Given the description of an element on the screen output the (x, y) to click on. 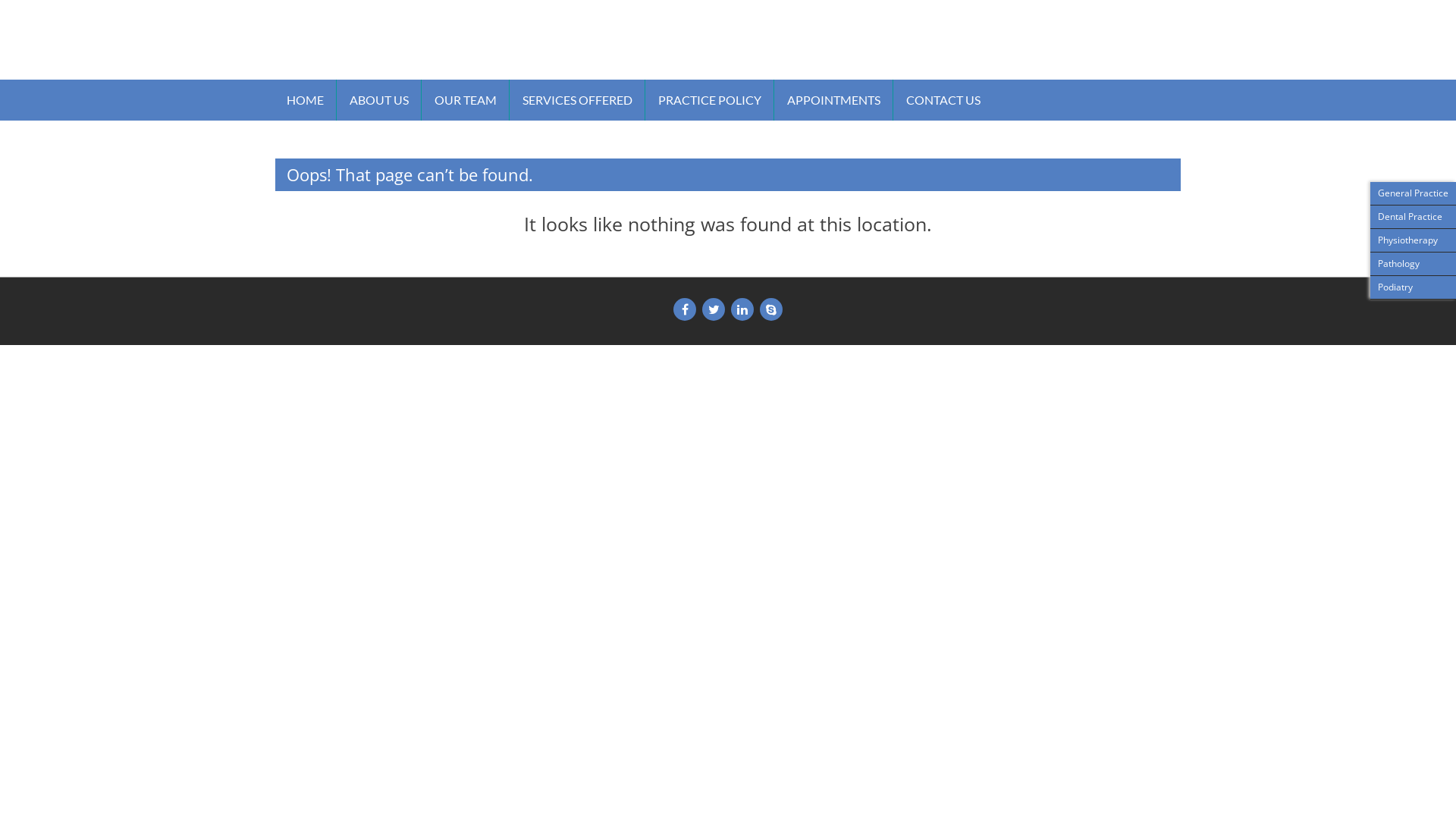
APPOINTMENTS Element type: text (833, 99)
OUR TEAM Element type: text (465, 99)
CONTACT US Element type: text (942, 99)
HOME Element type: text (305, 99)
ABOUT US Element type: text (379, 99)
SERVICES OFFERED Element type: text (577, 99)
PRACTICE POLICY Element type: text (709, 99)
ELLEN STIRLING MEDICAL CENTRE Element type: text (455, 33)
